Given the description of an element on the screen output the (x, y) to click on. 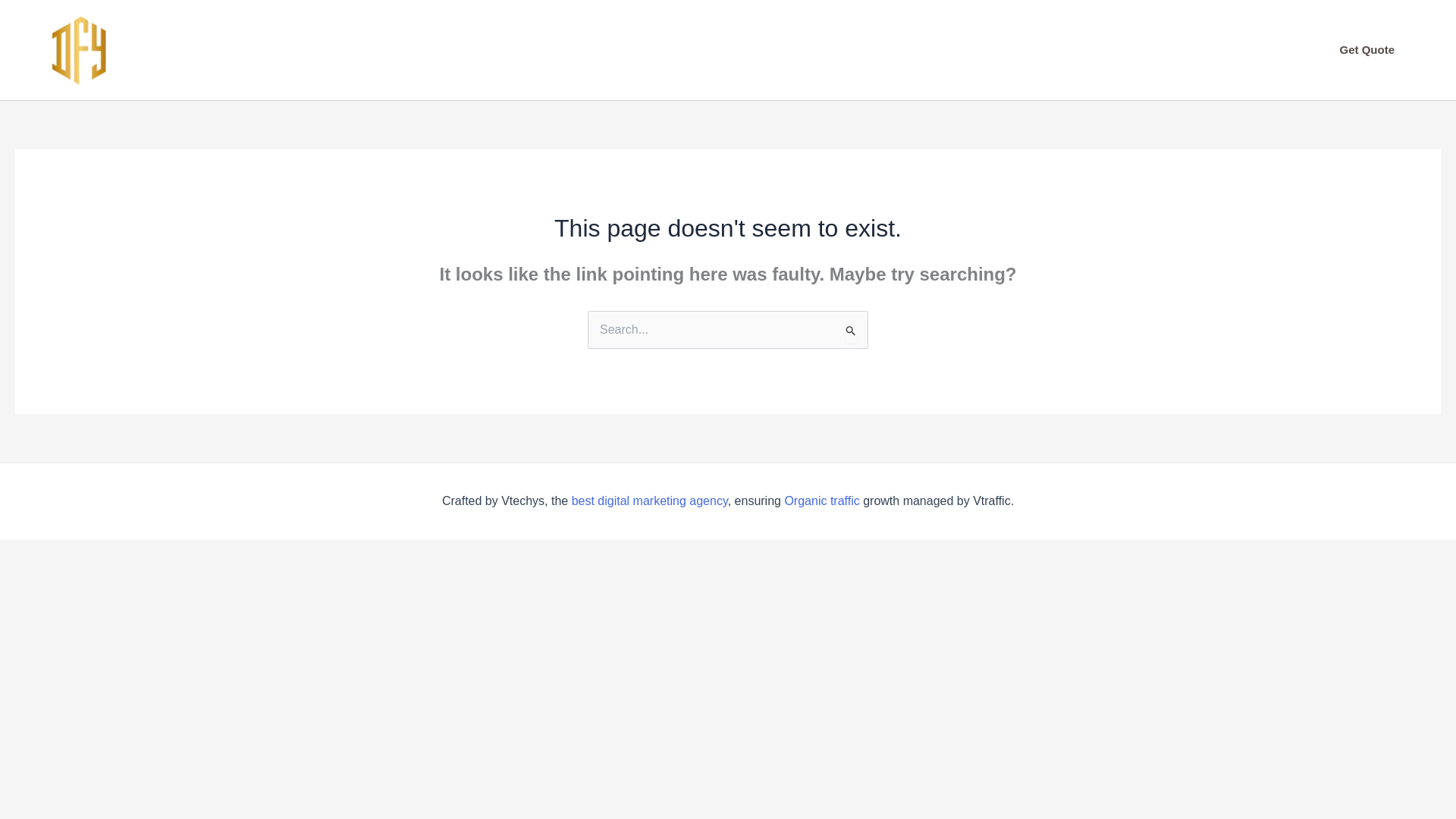
SERVICES (579, 49)
CONTACT US (967, 49)
best digital marketing agency (646, 500)
Organic traffic (820, 500)
Search (850, 331)
ABOUT US (483, 49)
TESTIMONIALS (747, 49)
BLOG (1058, 49)
HOME (398, 49)
FAQ (656, 49)
Search (850, 331)
Get Quote (1366, 49)
PORTFOLIO (859, 49)
Search (850, 331)
